Given the description of an element on the screen output the (x, y) to click on. 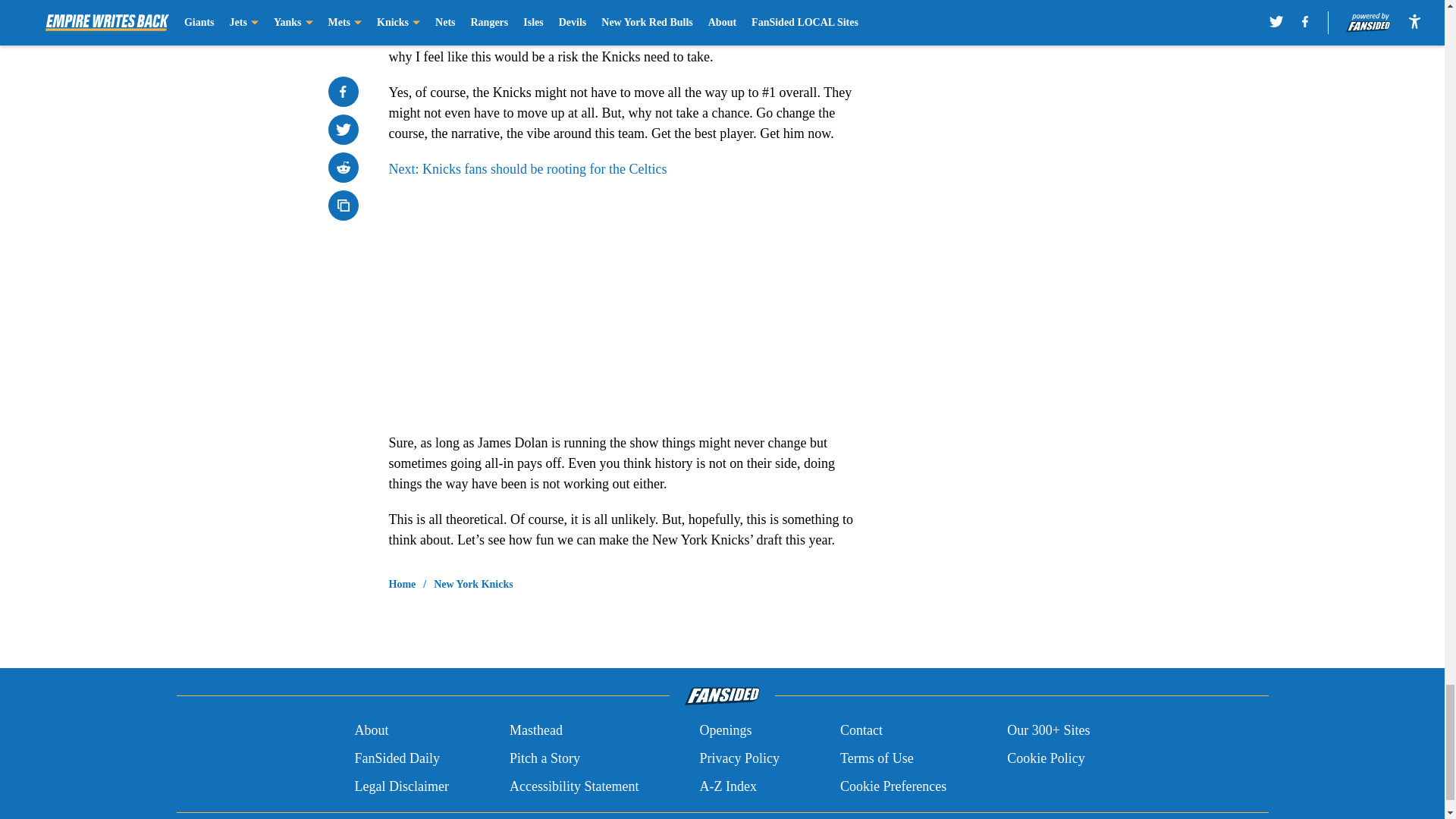
Next: Knicks fans should be rooting for the Celtics (527, 168)
